Given the description of an element on the screen output the (x, y) to click on. 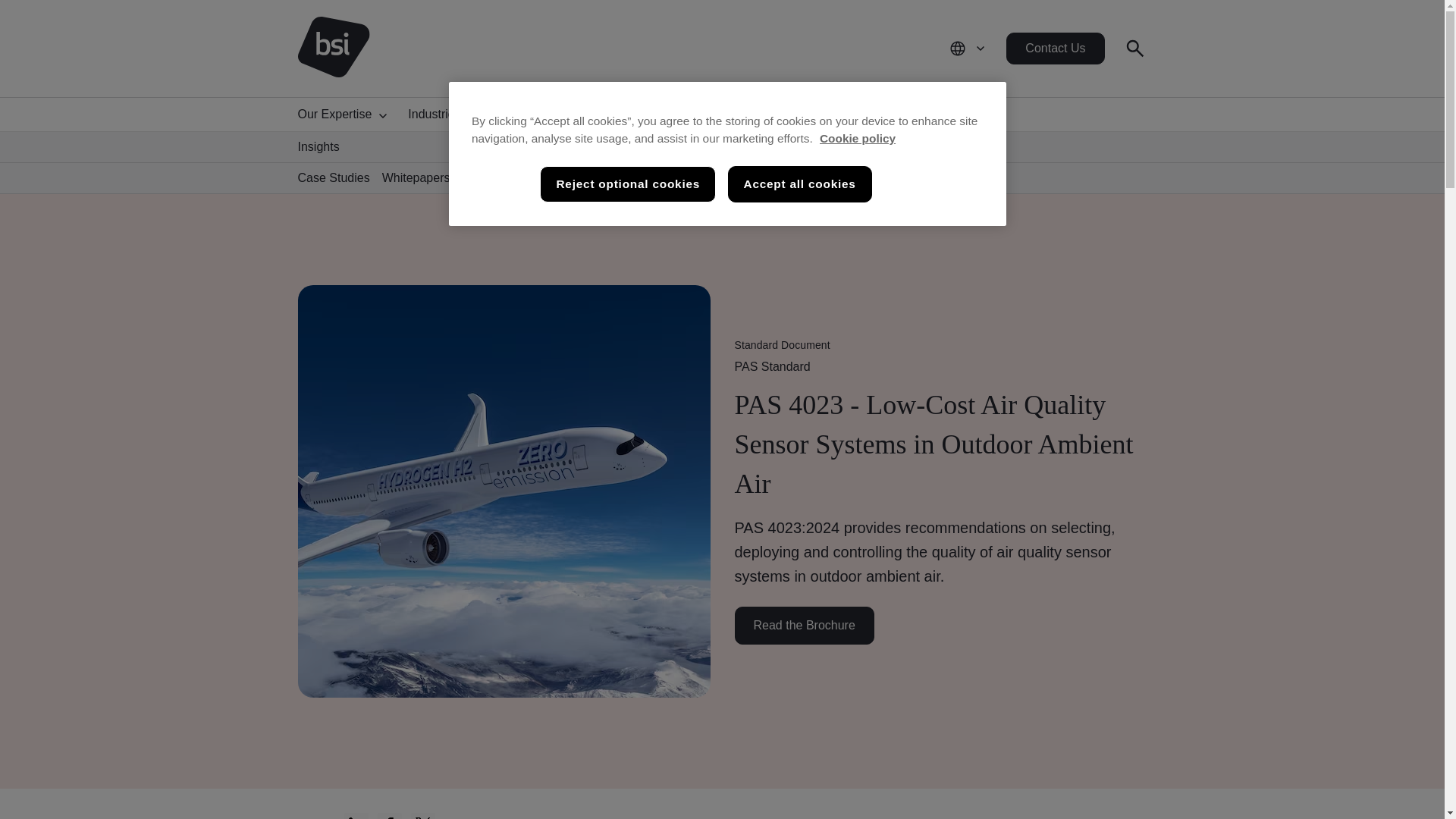
Our Expertise (346, 114)
Country selector (968, 48)
Search Icon (1134, 48)
Contact Us (1054, 48)
BSI logo (333, 48)
Our Expertise (346, 114)
Contact Us (1054, 48)
